Given the description of an element on the screen output the (x, y) to click on. 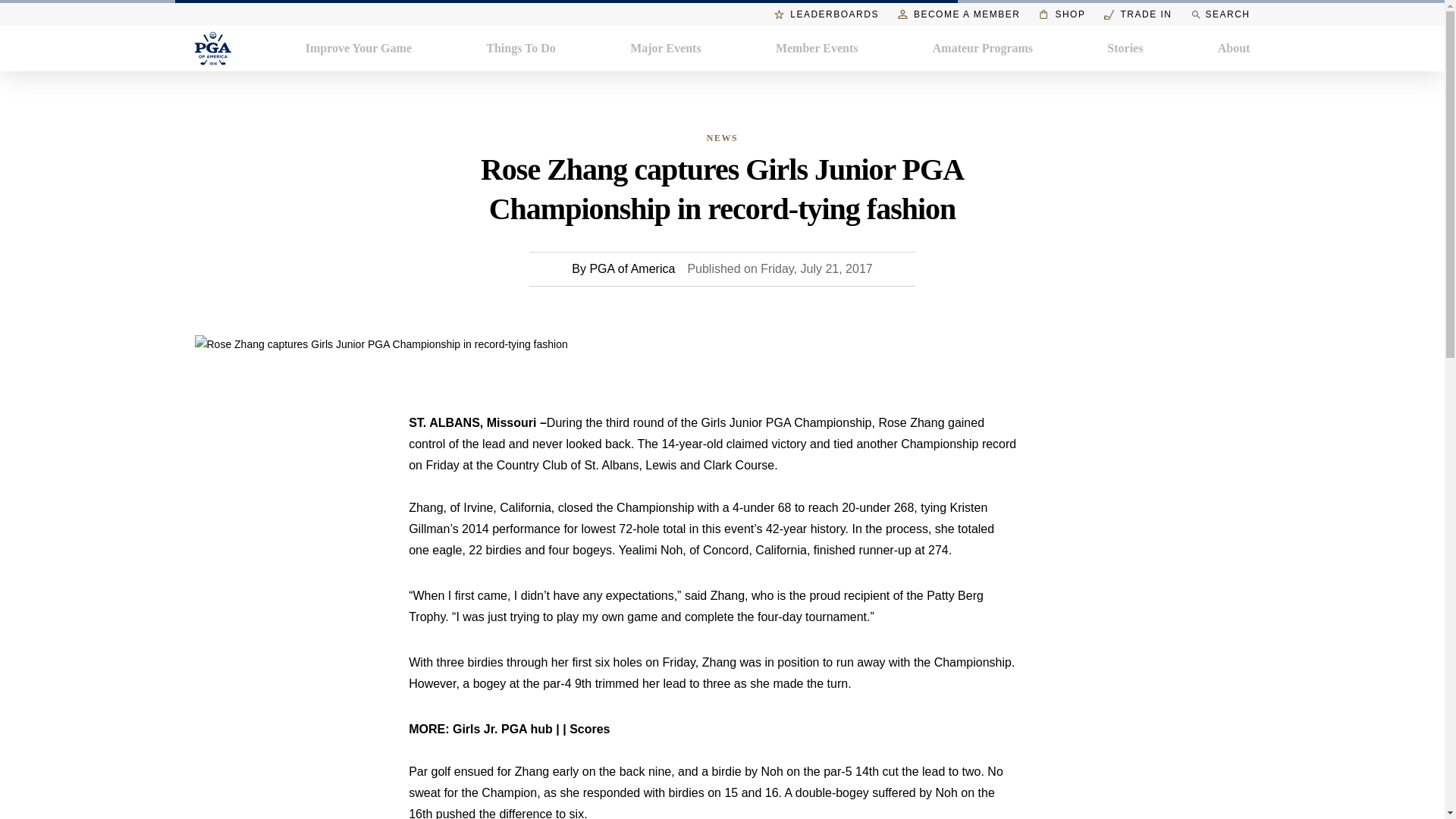
SHOP (1061, 13)
BECOME A MEMBER (959, 13)
Member Events (817, 48)
TRADE IN (1137, 13)
Amateur Programs (982, 48)
Major Events (665, 48)
Things To Do (521, 48)
Improve Your Game (358, 48)
LEADERBOARDS (826, 13)
SEARCH (1220, 14)
